Given the description of an element on the screen output the (x, y) to click on. 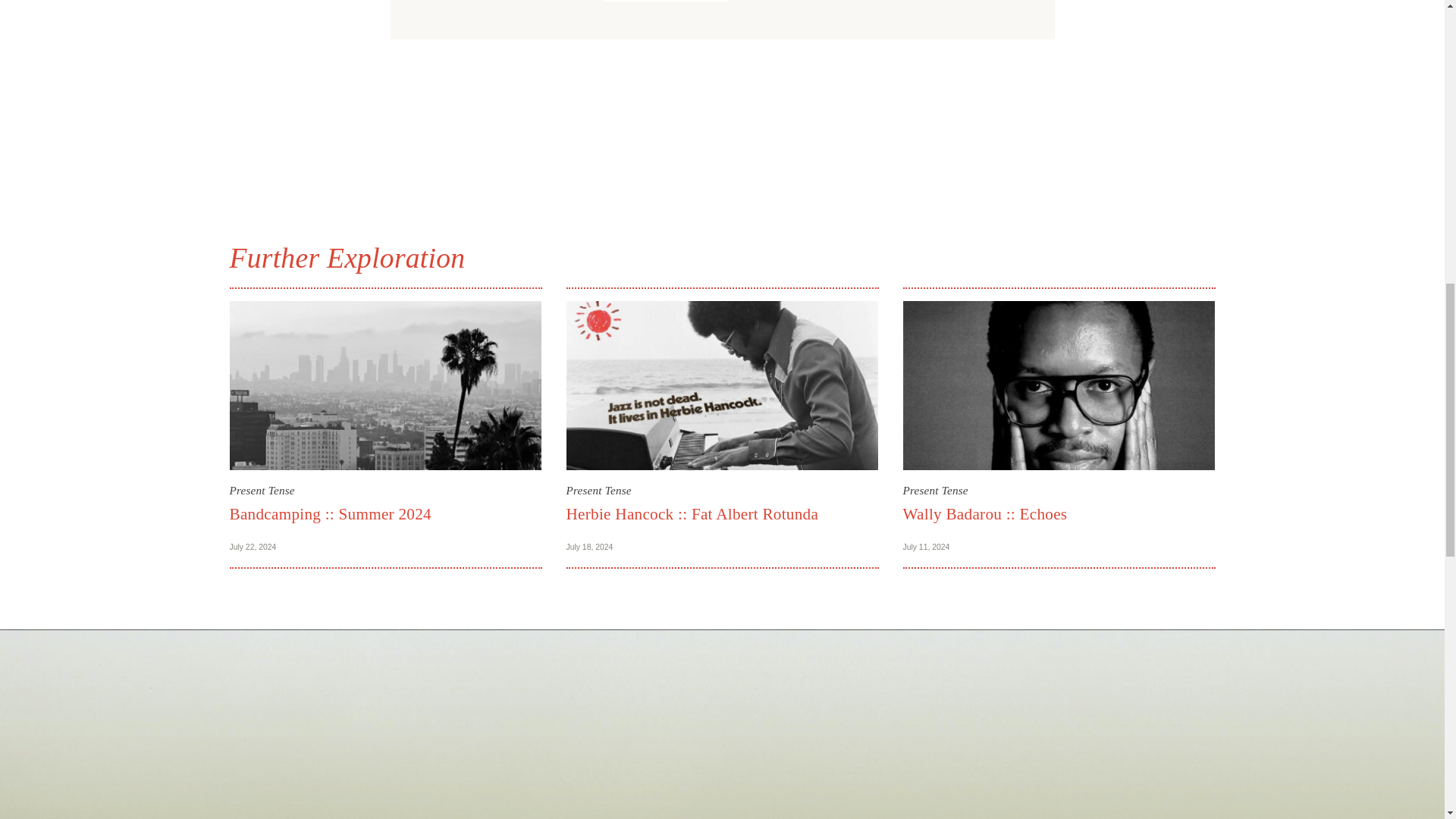
Bandcamping :: Summer 2024 (329, 514)
Aquarium Drunkard Presents (665, 0)
3rd party ad content (721, 121)
Herbie Hancock :: Fat Albert Rotunda (692, 514)
Wally Badarou :: Echoes (984, 514)
